Given the description of an element on the screen output the (x, y) to click on. 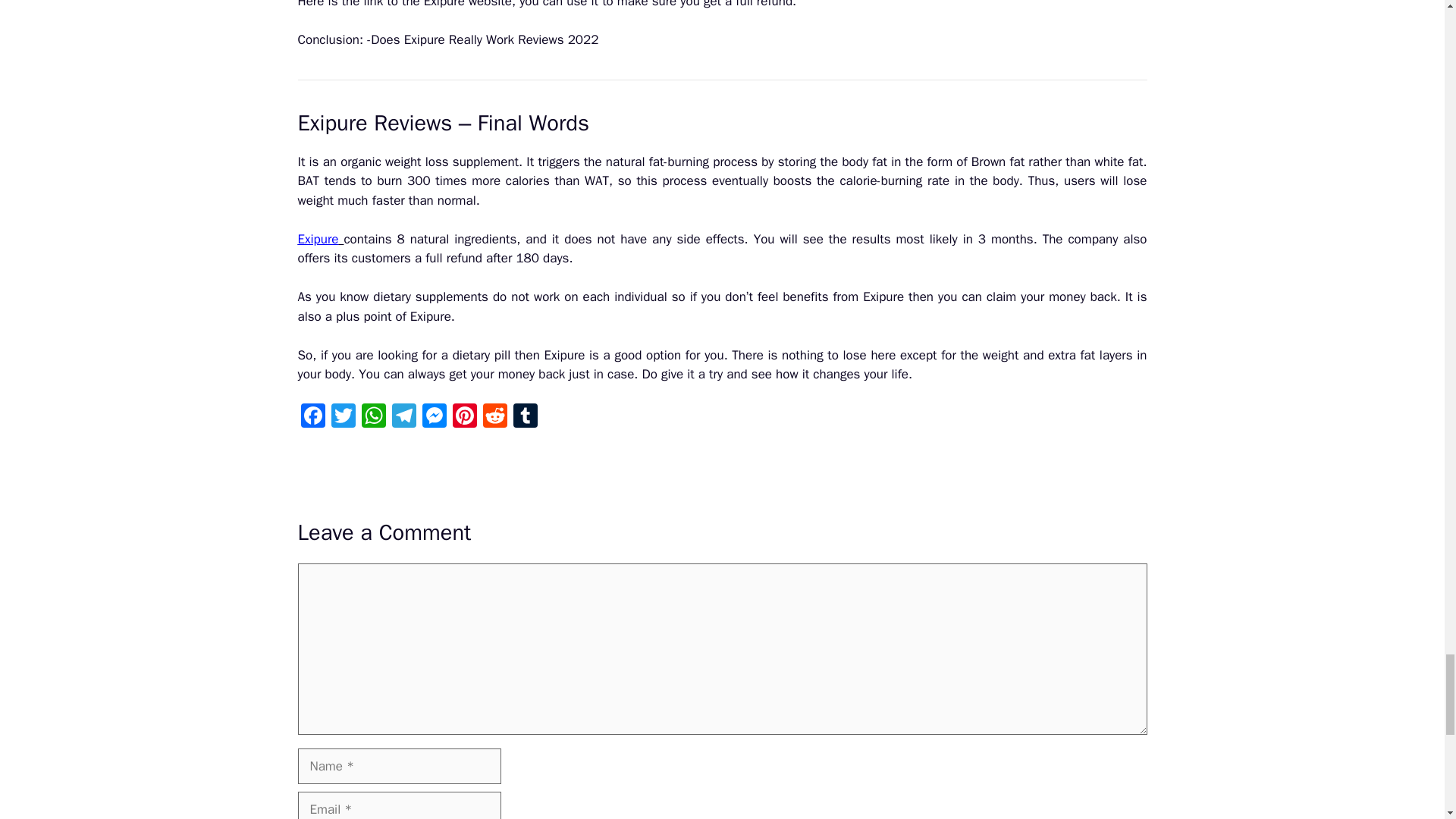
Facebook (312, 417)
Pinterest (463, 417)
Tumblr (524, 417)
Telegram (403, 417)
Twitter (342, 417)
Exipure (317, 238)
Facebook (312, 417)
Reddit (494, 417)
WhatsApp (373, 417)
Messenger (433, 417)
WhatsApp (373, 417)
Twitter (342, 417)
Telegram (403, 417)
